Given the description of an element on the screen output the (x, y) to click on. 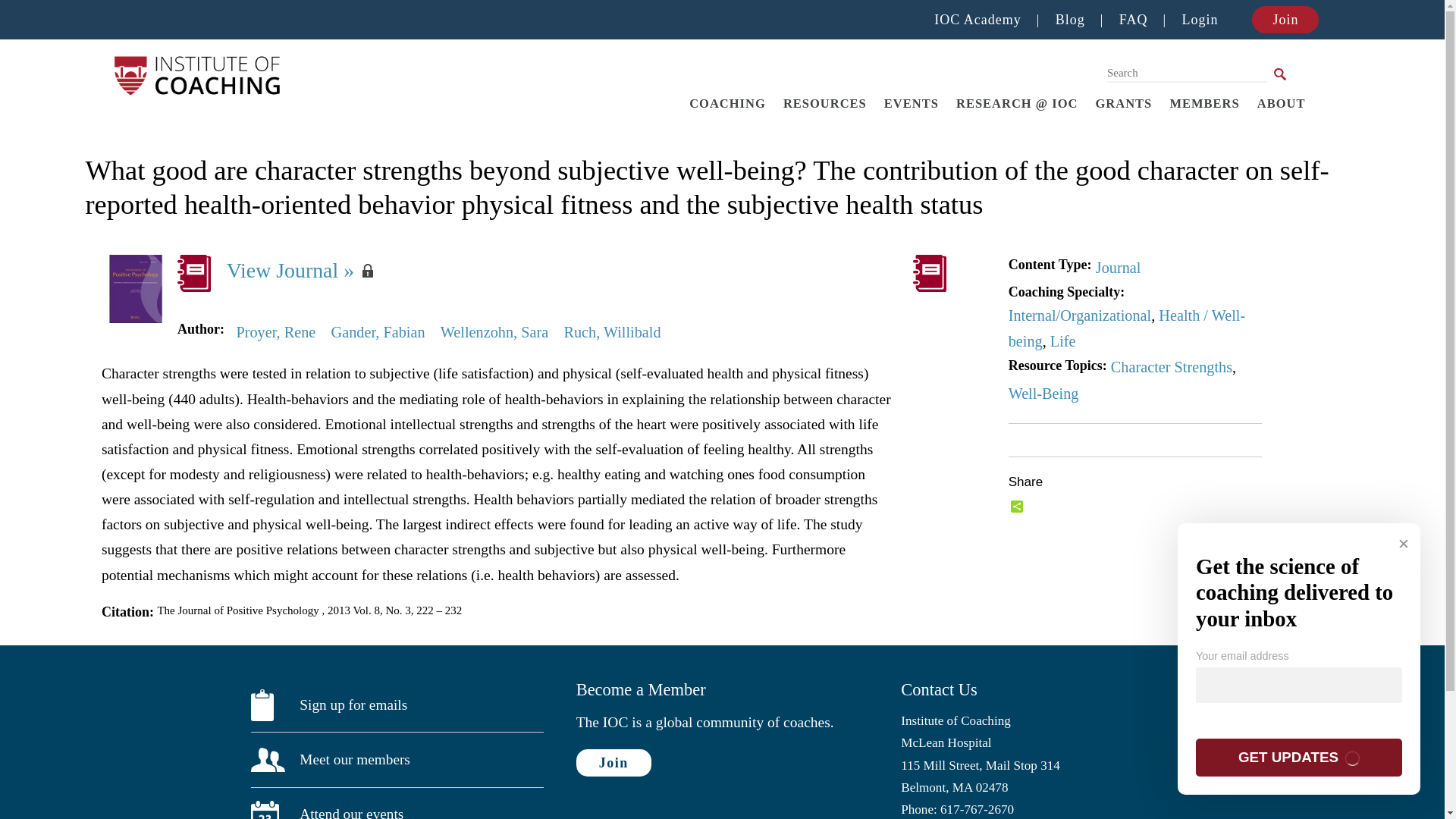
FAQ (1133, 19)
IOC Academy (977, 19)
Blog (1069, 19)
EVENTS (911, 102)
Enter the terms you wish to search for. (1186, 72)
Login (1198, 19)
COACHING (727, 102)
RESOURCES (824, 102)
Join (1285, 19)
